Given the description of an element on the screen output the (x, y) to click on. 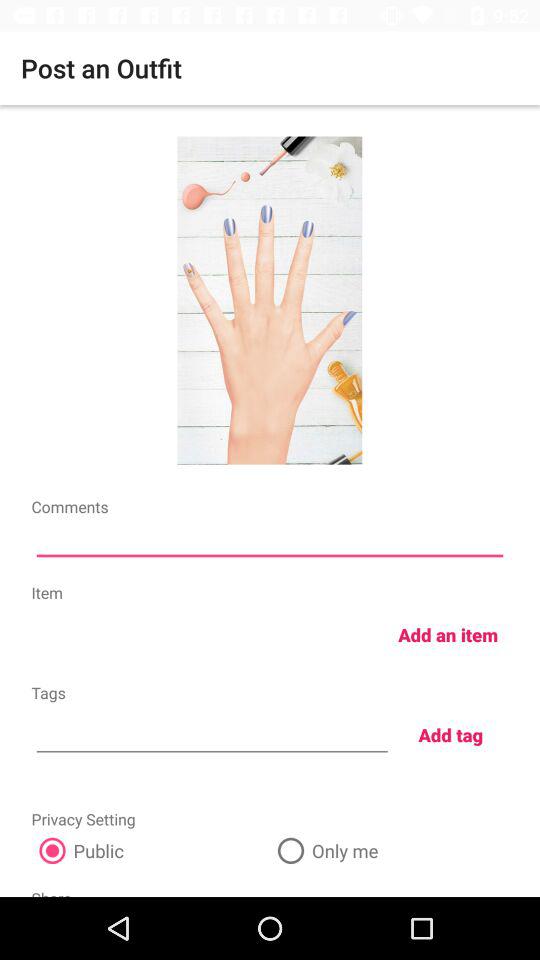
launch the item below privacy setting item (150, 850)
